Given the description of an element on the screen output the (x, y) to click on. 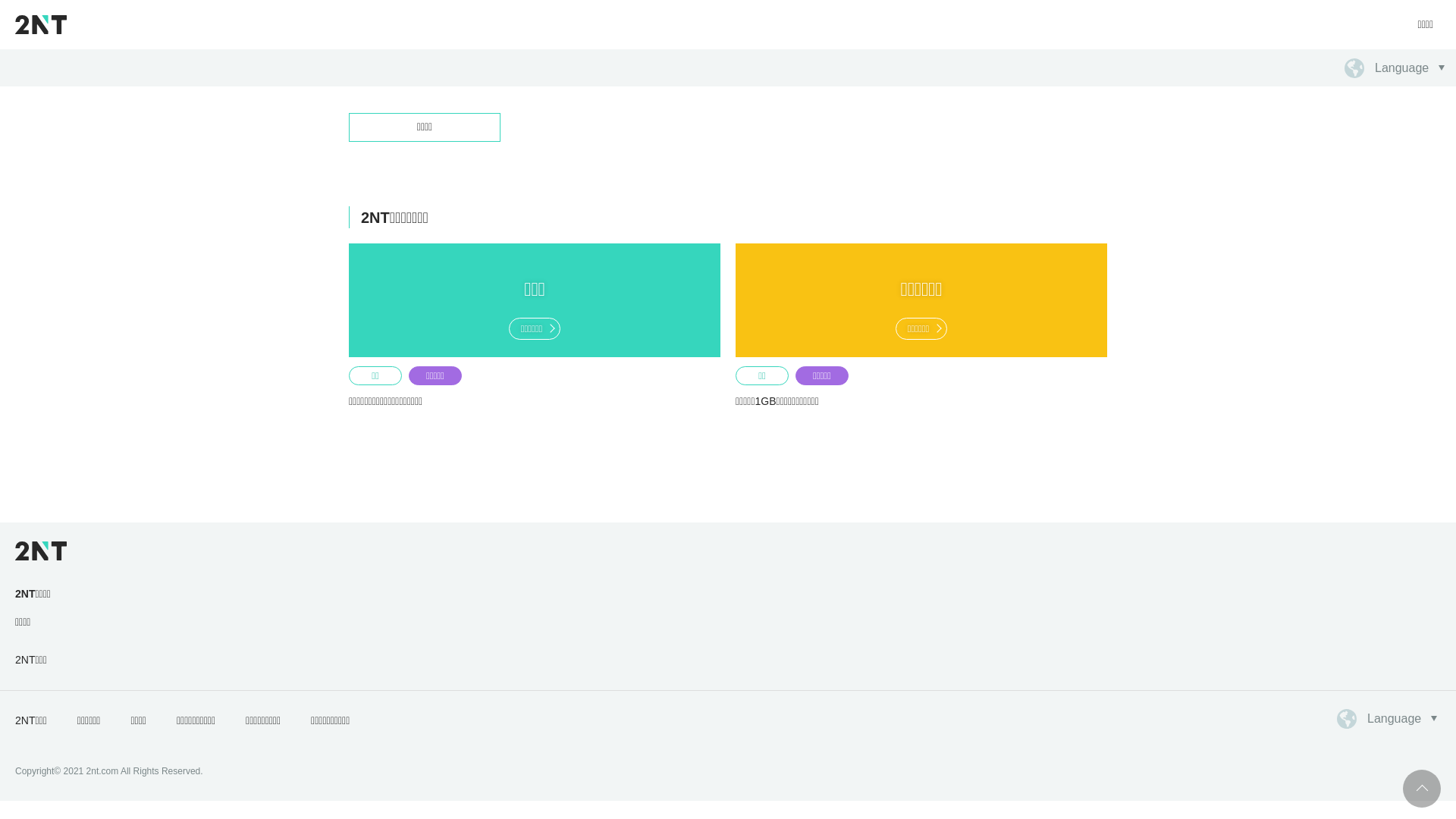
2NT Element type: hover (40, 24)
